Given the description of an element on the screen output the (x, y) to click on. 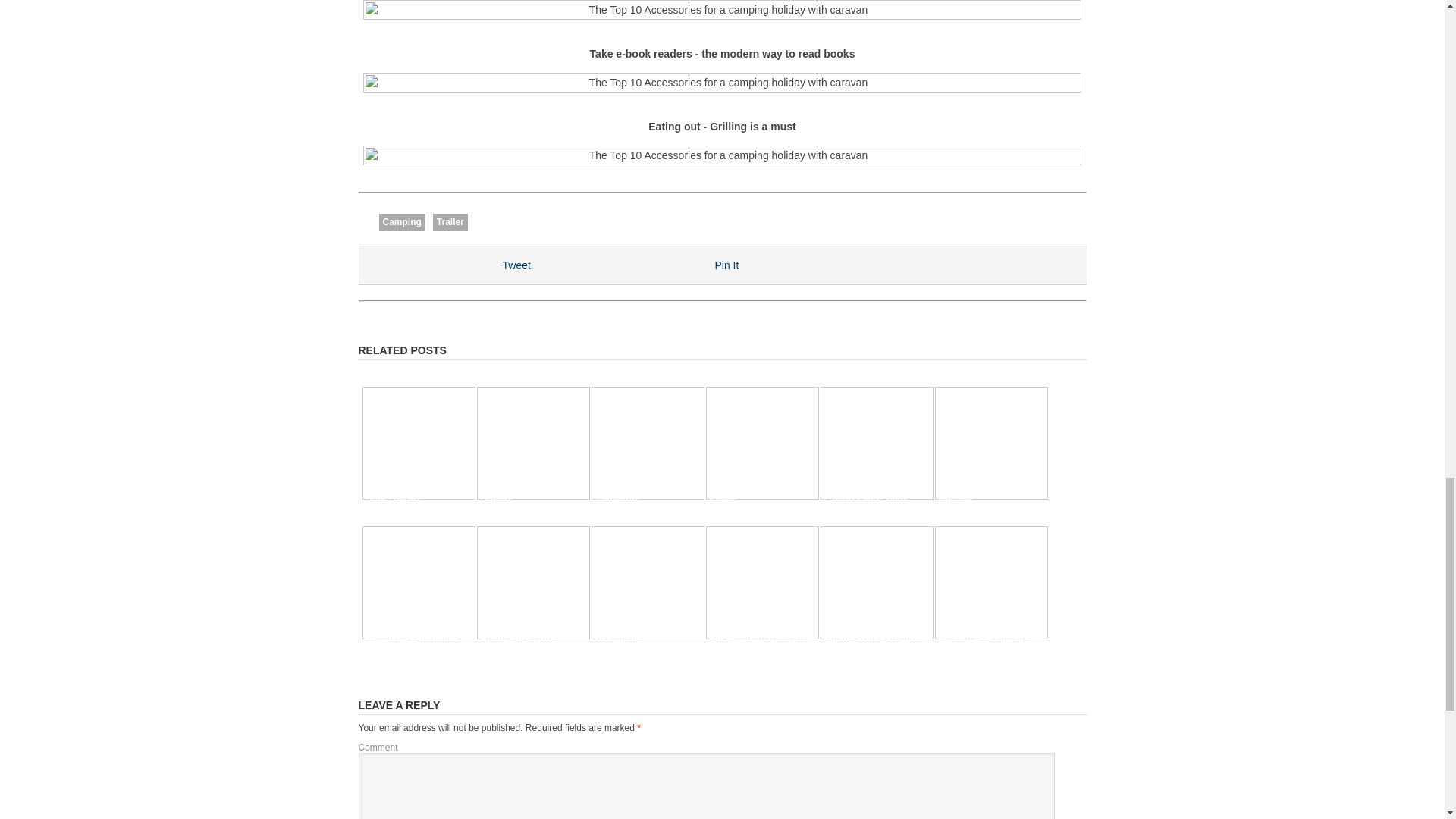
Camping (401, 221)
The Top 10 Accessories for a camping holiday with caravan (721, 9)
The Top 10 Accessories for a camping holiday with caravan (721, 155)
Glamping Tent Camping Holiday Of Pure Luxury! (408, 485)
Trailer (449, 221)
15 Cool Design Ideas Tent Invite You To An Adventure (639, 485)
Tweet (515, 265)
The Top 10 Accessories for a camping holiday with caravan (721, 82)
Pin It (726, 265)
